Given the description of an element on the screen output the (x, y) to click on. 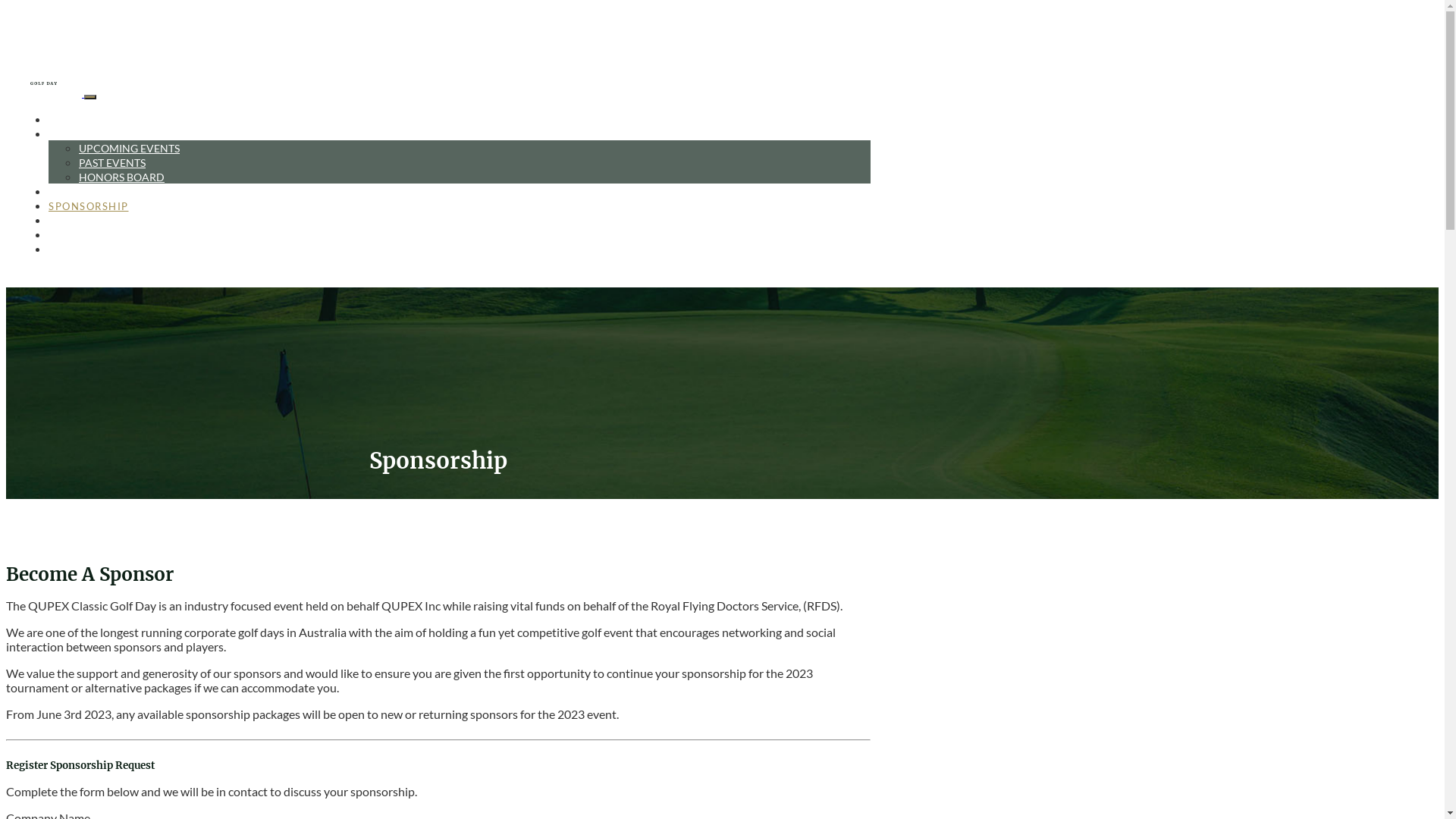
PAST EVENTS Element type: text (111, 162)
CONTACT Element type: text (75, 249)
EVENTS Element type: text (70, 134)
ABOUT Element type: text (67, 235)
SPONSORSHIP Element type: text (88, 206)
HOME Element type: text (65, 119)
UPCOMING EVENTS Element type: text (128, 147)
REGISTRATION Element type: text (90, 191)
HONORS BOARD Element type: text (121, 176)
GALLERY Element type: text (74, 220)
